Given the description of an element on the screen output the (x, y) to click on. 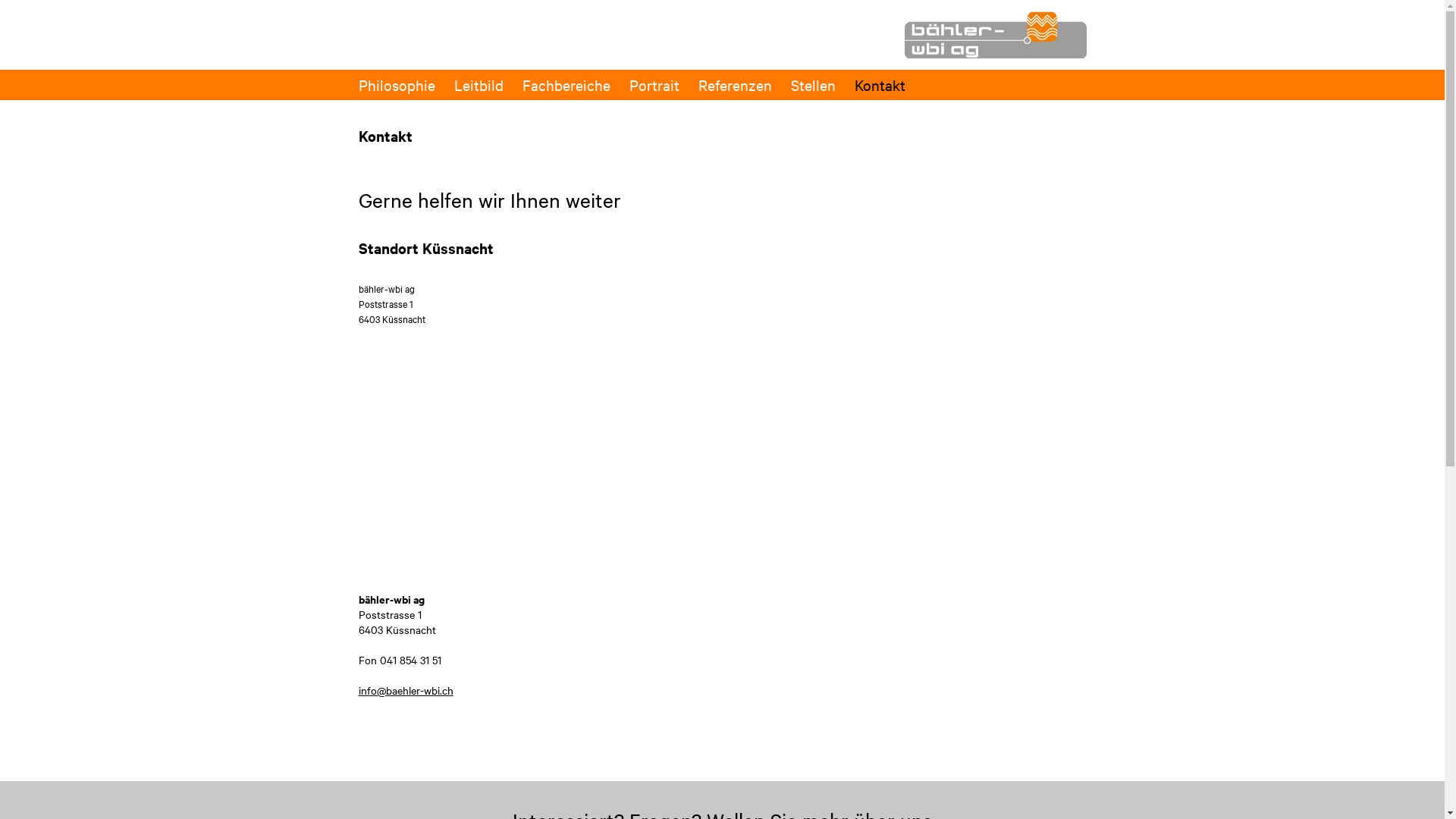
Fachbereiche Element type: text (565, 84)
Stellen Element type: text (812, 84)
Referenzen Element type: text (734, 84)
Portrait Element type: text (654, 84)
Leitbild Element type: text (477, 84)
info@baehler-wbi.ch Element type: text (404, 689)
Kontakt Element type: text (878, 84)
Philosophie Element type: text (395, 84)
